Given the description of an element on the screen output the (x, y) to click on. 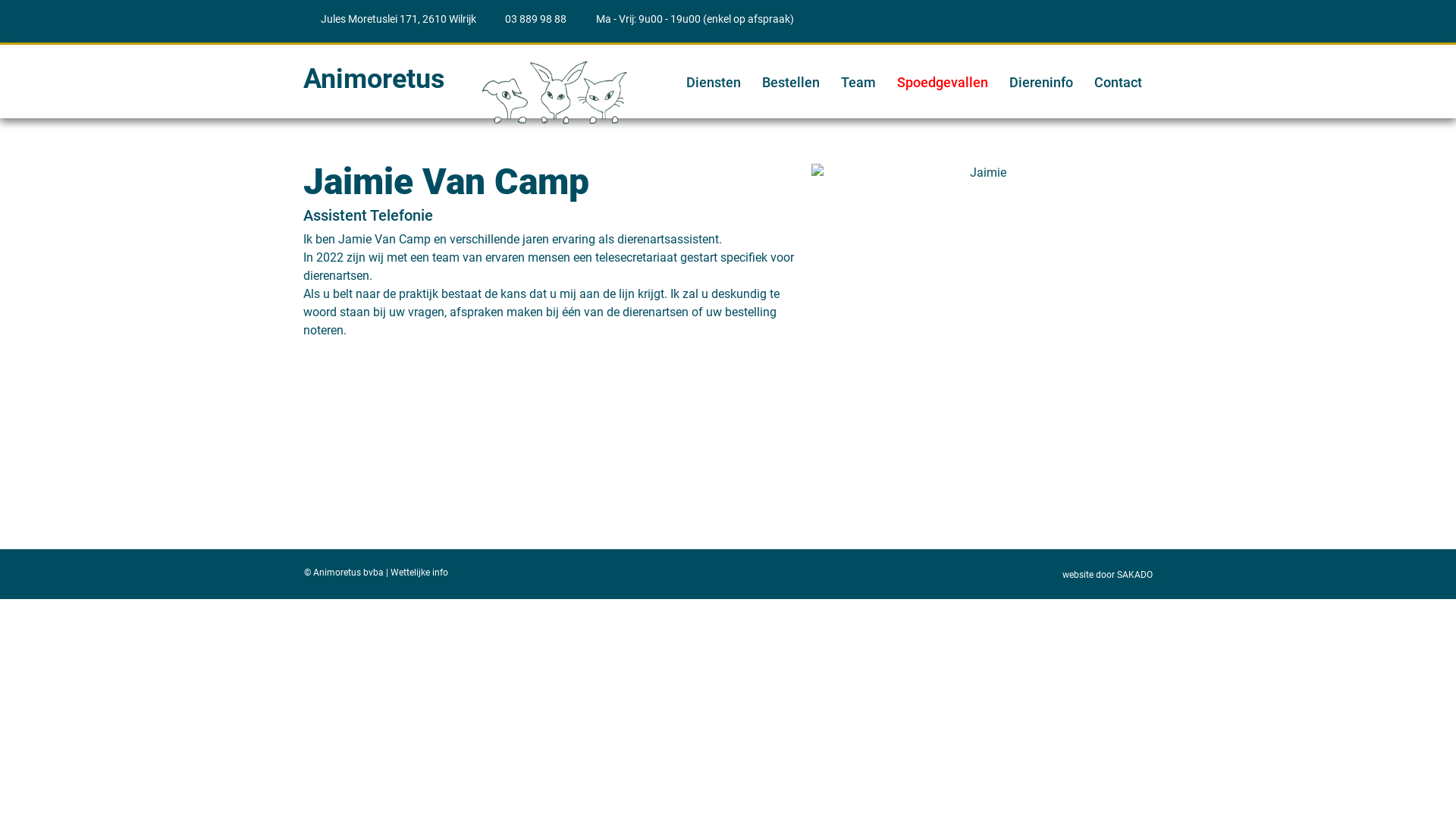
website door SAKADO Element type: text (1107, 574)
Animoretus Element type: text (374, 78)
Wettelijke info Element type: text (419, 572)
Bestellen Element type: text (790, 82)
03 889 98 88 Element type: text (527, 19)
Spoedgevallen Element type: text (942, 82)
Contact Element type: text (1117, 82)
Team Element type: text (858, 82)
Diereninfo Element type: text (1040, 82)
Diensten Element type: text (713, 82)
